Given the description of an element on the screen output the (x, y) to click on. 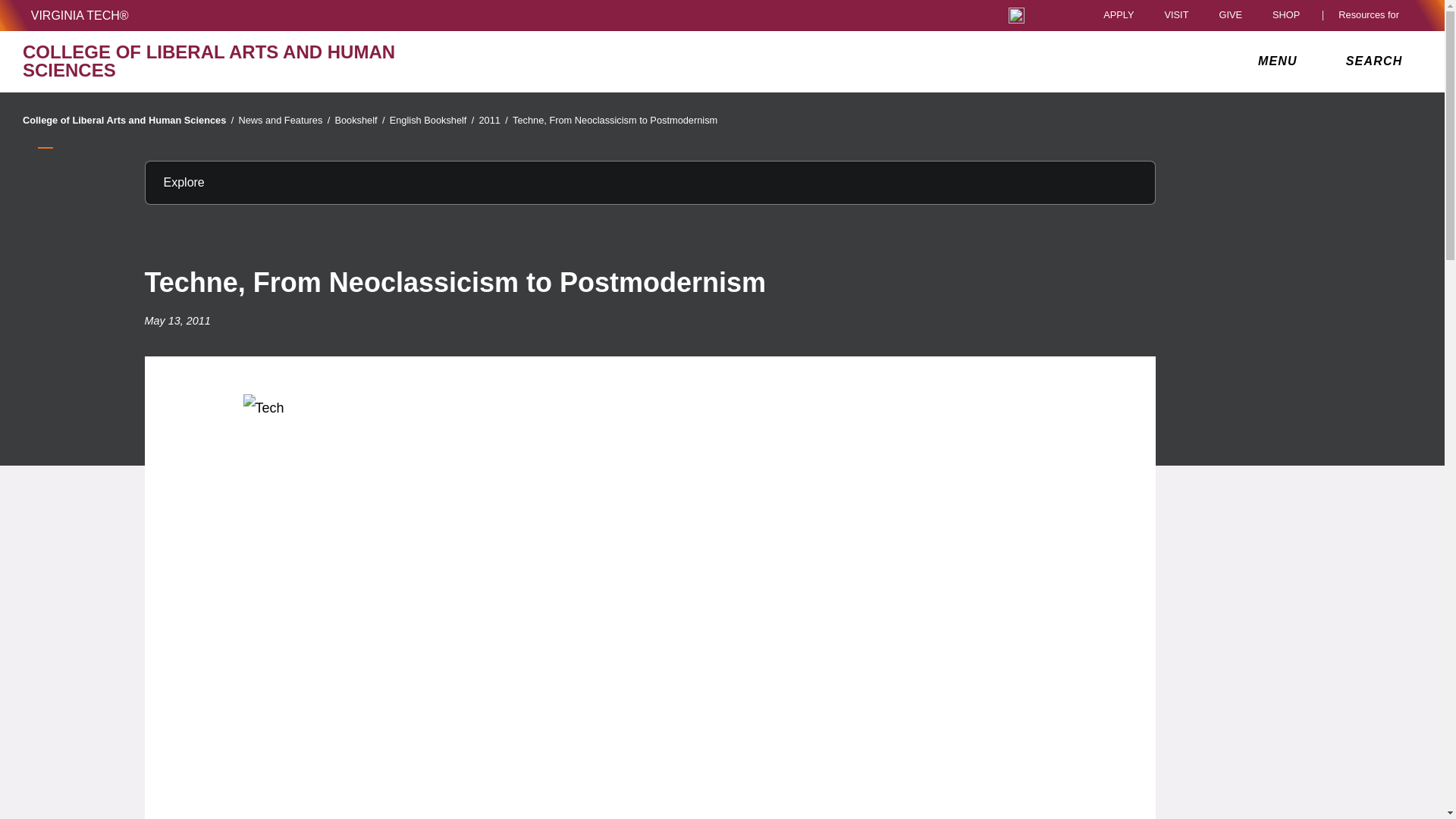
VISIT (1175, 15)
MENU (1280, 61)
GIVE (1229, 15)
SHOP (1289, 15)
Universal Access Toggle (1017, 15)
APPLY (1118, 15)
COLLEGE OF LIBERAL ARTS AND HUMAN SCIENCES (250, 60)
Resources for (1372, 15)
